Given the description of an element on the screen output the (x, y) to click on. 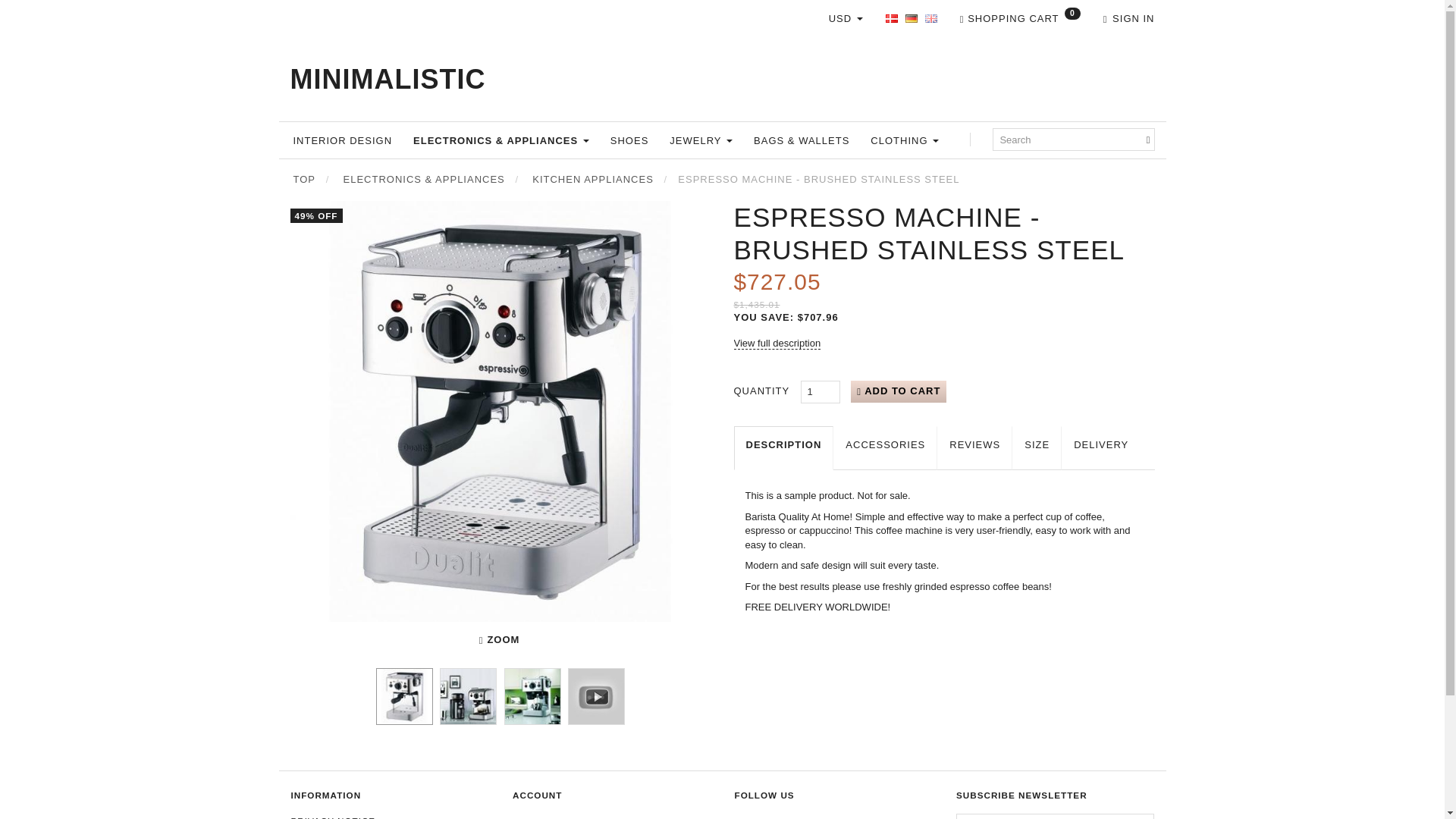
SHOPPING CART 0 (1019, 19)
JEWELRY (700, 140)
USD (845, 19)
MINIMALISTIC (386, 79)
SIGN IN (1128, 19)
INTERIOR DESIGN (341, 140)
SHOES (629, 140)
Login (1128, 19)
1 (820, 391)
